Given the description of an element on the screen output the (x, y) to click on. 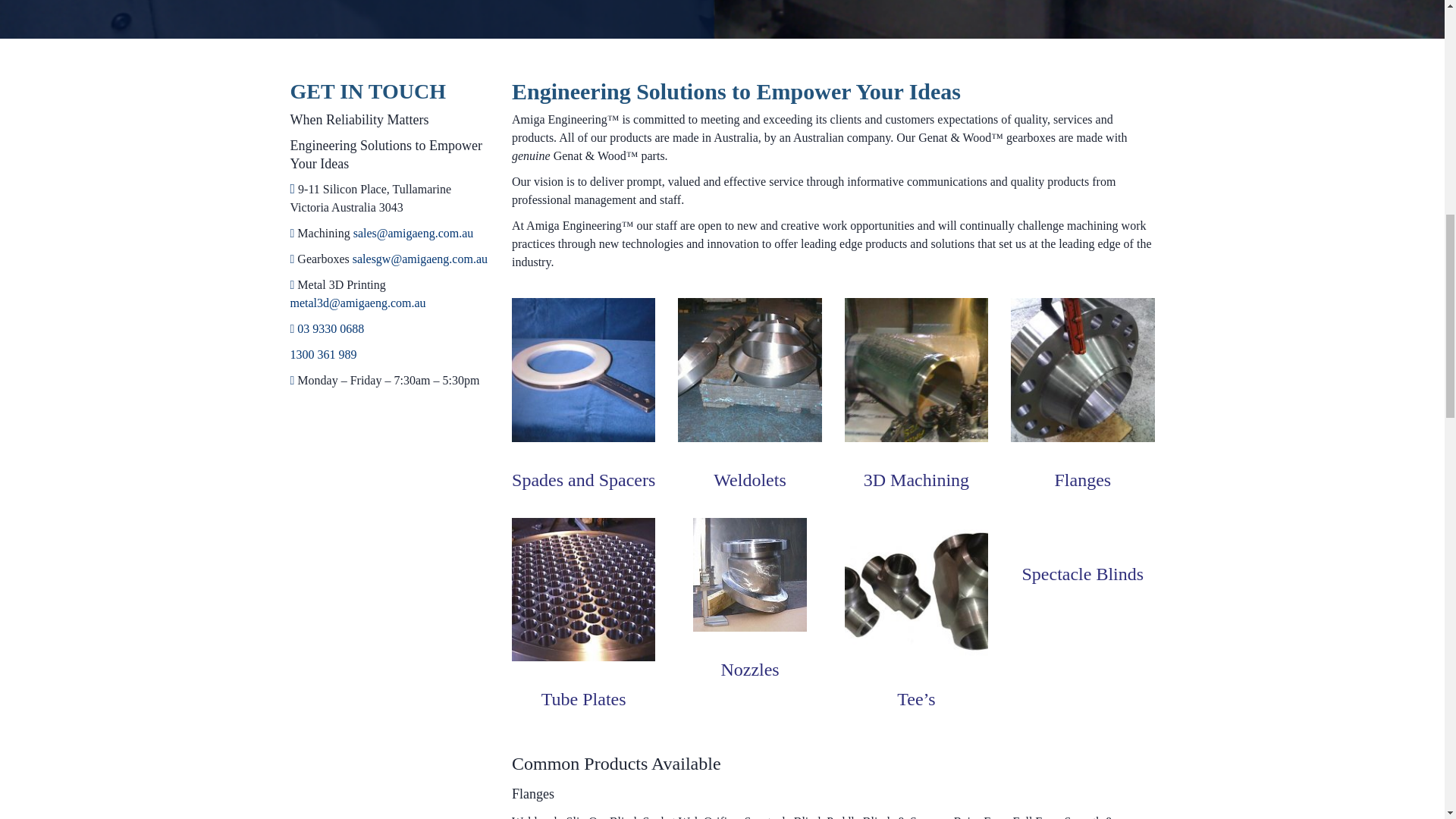
TUBE-PLATE-CYCLONE-LARGE (583, 588)
3D Machining Australia (916, 369)
TEFLON-LINED-CARBON-STEEL-SPACER (583, 369)
Weldolet Australia (749, 369)
Tee's Victoria (916, 588)
SELFREINFORCED-ANGULAR-FLANGED-NOZZLE-150x150 (749, 574)
Flanges Australia (1082, 369)
